Given the description of an element on the screen output the (x, y) to click on. 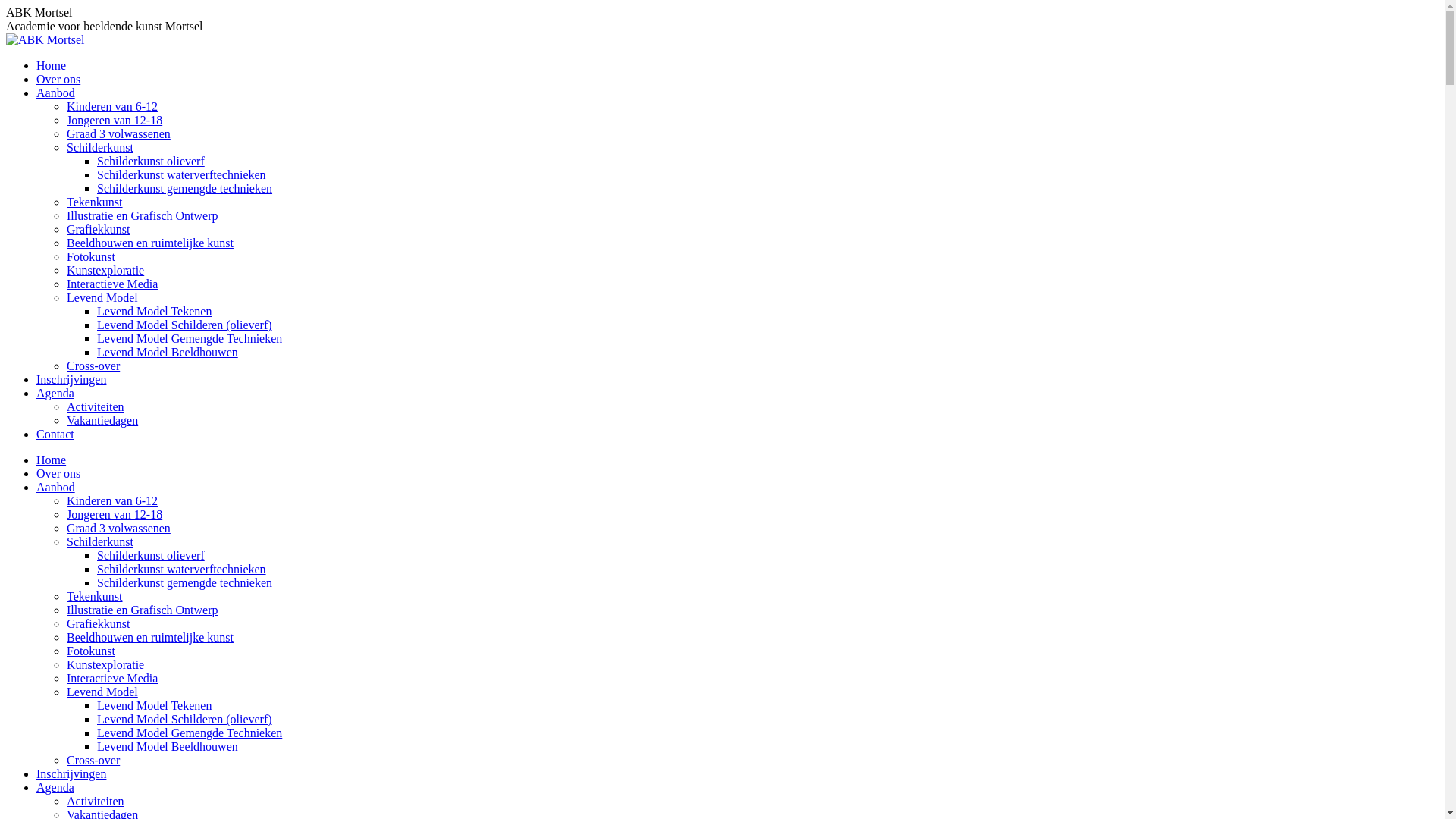
Home Element type: text (50, 65)
Graad 3 volwassenen Element type: text (118, 527)
Schilderkunst gemengde technieken Element type: text (184, 188)
Inschrijvingen Element type: text (71, 379)
Contact Element type: text (55, 433)
Kunstexploratie Element type: text (105, 664)
Tekenkunst Element type: text (94, 201)
Grafiekkunst Element type: text (98, 623)
Fotokunst Element type: text (90, 650)
Cross-over Element type: text (92, 759)
Levend Model Gemengde Technieken Element type: text (189, 732)
Aanbod Element type: text (55, 486)
Levend Model Beeldhouwen Element type: text (167, 351)
Schilderkunst olieverf Element type: text (150, 555)
Levend Model Tekenen Element type: text (154, 310)
Inschrijvingen Element type: text (71, 773)
Levend Model Element type: text (102, 691)
Schilderkunst olieverf Element type: text (150, 160)
Levend Model Gemengde Technieken Element type: text (189, 338)
Levend Model Schilderen (olieverf) Element type: text (184, 718)
Interactieve Media Element type: text (111, 283)
Activiteiten Element type: text (95, 406)
Activiteiten Element type: text (95, 800)
Levend Model Schilderen (olieverf) Element type: text (184, 324)
Jongeren van 12-18 Element type: text (114, 119)
Beeldhouwen en ruimtelijke kunst Element type: text (149, 636)
Agenda Element type: text (55, 787)
Over ons Element type: text (58, 473)
Illustratie en Grafisch Ontwerp Element type: text (141, 215)
Schilderkunst Element type: text (99, 541)
Aanbod Element type: text (55, 92)
Interactieve Media Element type: text (111, 677)
Tekenkunst Element type: text (94, 595)
Schilderkunst Element type: text (99, 147)
Schilderkunst waterverftechnieken Element type: text (181, 174)
Beeldhouwen en ruimtelijke kunst Element type: text (149, 242)
Jongeren van 12-18 Element type: text (114, 514)
Levend Model Beeldhouwen Element type: text (167, 746)
Fotokunst Element type: text (90, 256)
Home Element type: text (50, 459)
Schilderkunst waterverftechnieken Element type: text (181, 568)
Schilderkunst gemengde technieken Element type: text (184, 582)
Graad 3 volwassenen Element type: text (118, 133)
Cross-over Element type: text (92, 365)
Levend Model Element type: text (102, 297)
Over ons Element type: text (58, 78)
Kinderen van 6-12 Element type: text (111, 106)
Kinderen van 6-12 Element type: text (111, 500)
Grafiekkunst Element type: text (98, 228)
Skip to content Element type: text (5, 5)
Vakantiedagen Element type: text (102, 420)
Kunstexploratie Element type: text (105, 269)
Agenda Element type: text (55, 392)
Levend Model Tekenen Element type: text (154, 705)
Illustratie en Grafisch Ontwerp Element type: text (141, 609)
